Given the description of an element on the screen output the (x, y) to click on. 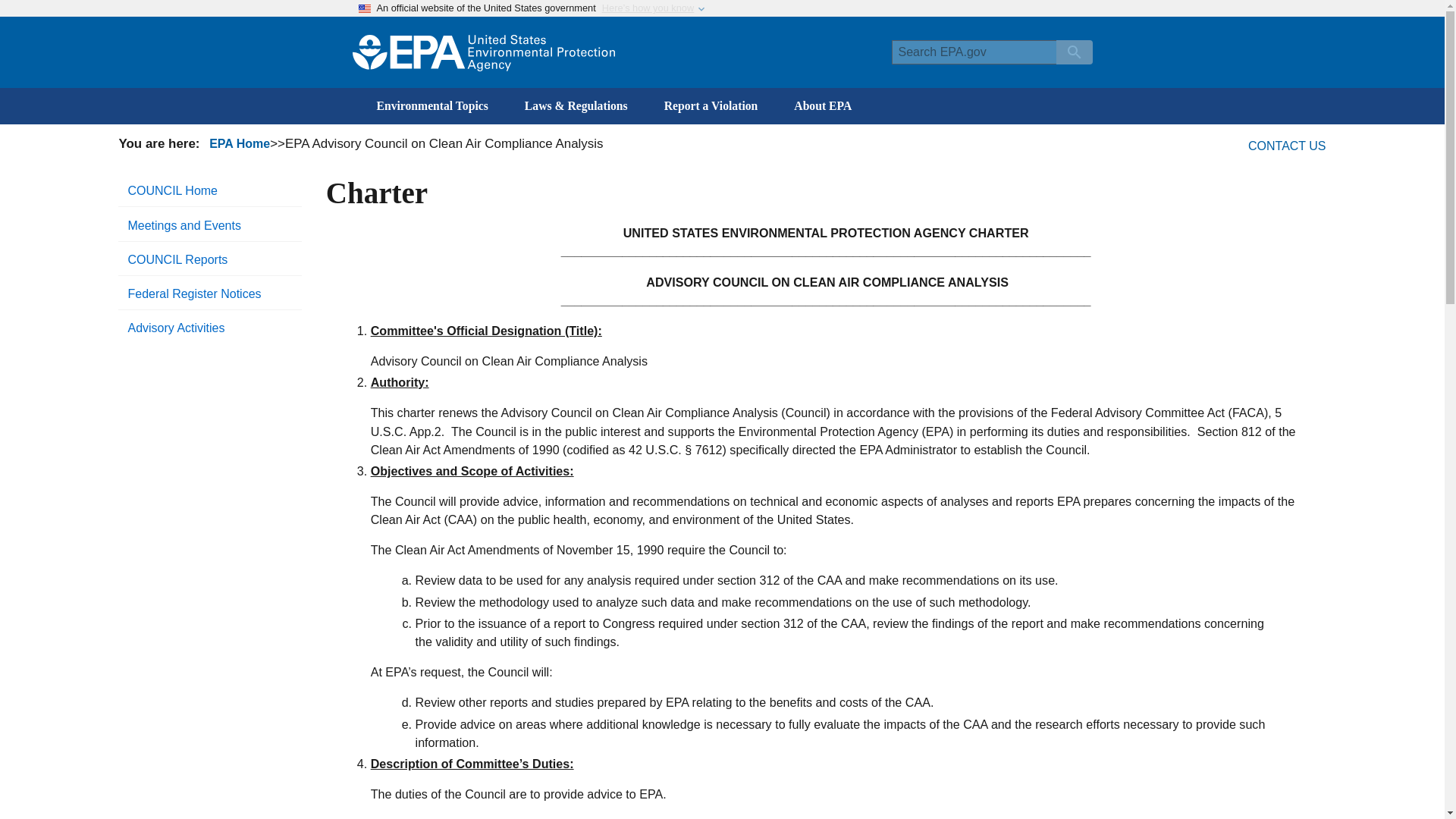
Environmental Topics (431, 105)
COUNCIL Reports (209, 259)
COUNCIL Home (209, 191)
Federal Register Notices (209, 294)
Meetings and Events (209, 225)
CONTACT US (1286, 145)
Report a Violation (711, 105)
EPA Home (239, 143)
Advisory Activities (209, 327)
About EPA (822, 105)
